Given the description of an element on the screen output the (x, y) to click on. 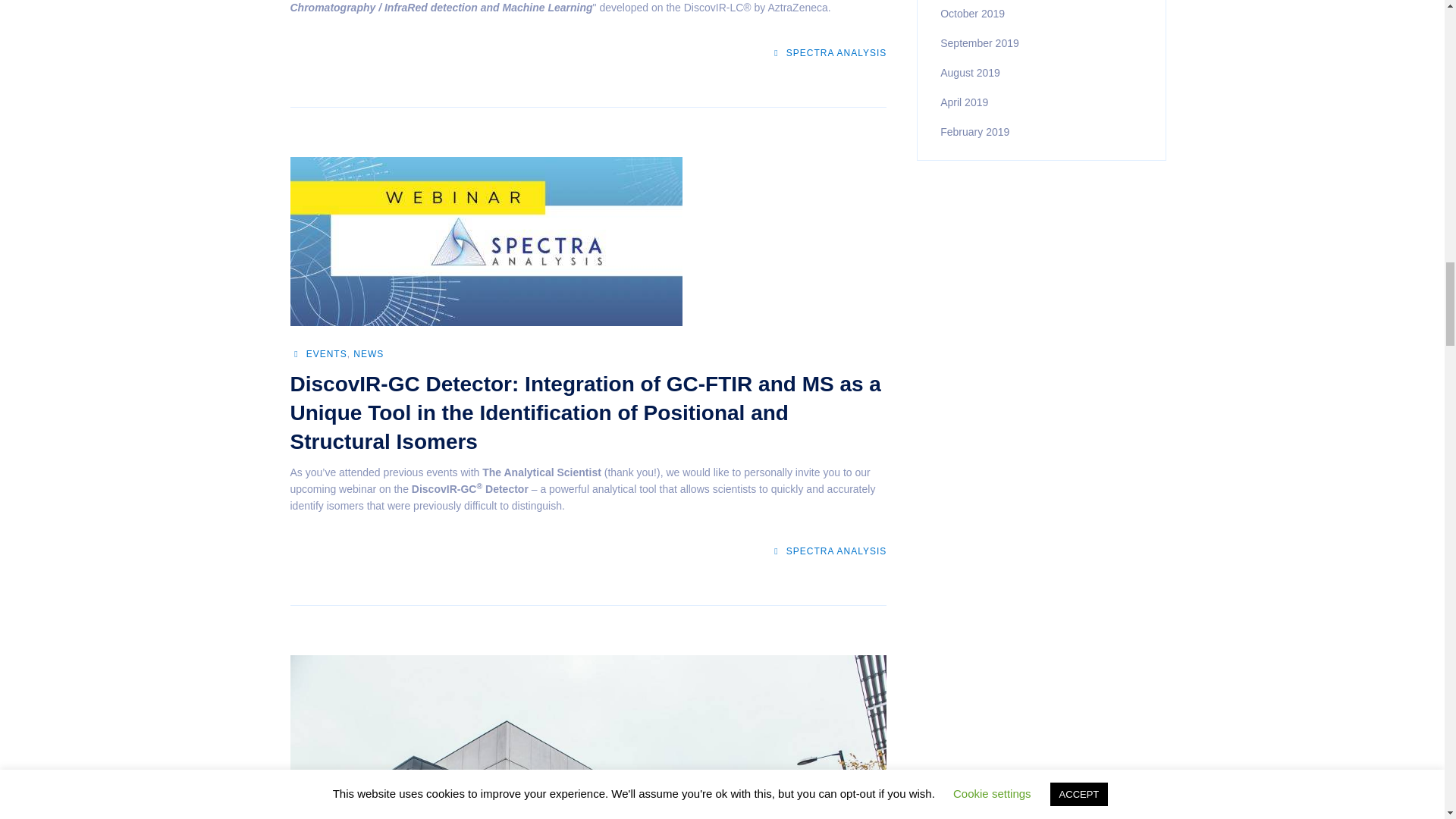
NEWS (368, 353)
SPECTRA ANALYSIS (828, 52)
EVENTS (326, 353)
